Given the description of an element on the screen output the (x, y) to click on. 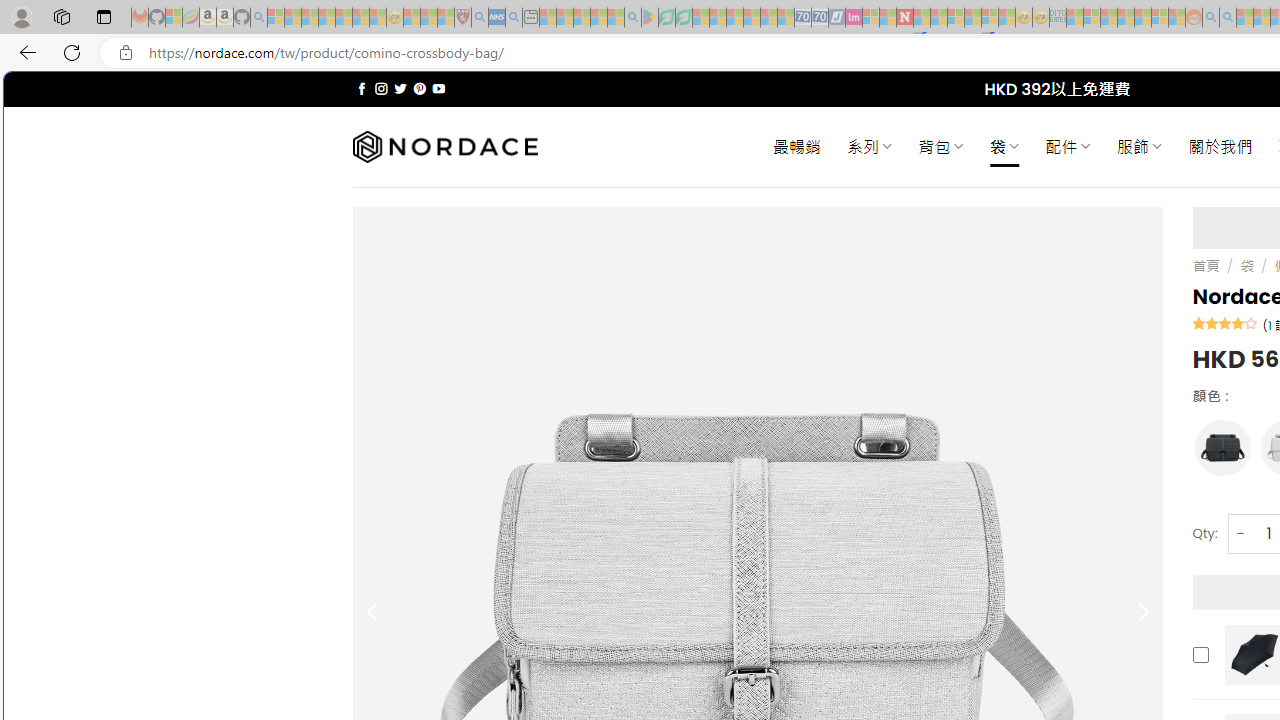
Follow on Twitter (400, 88)
